Given the description of an element on the screen output the (x, y) to click on. 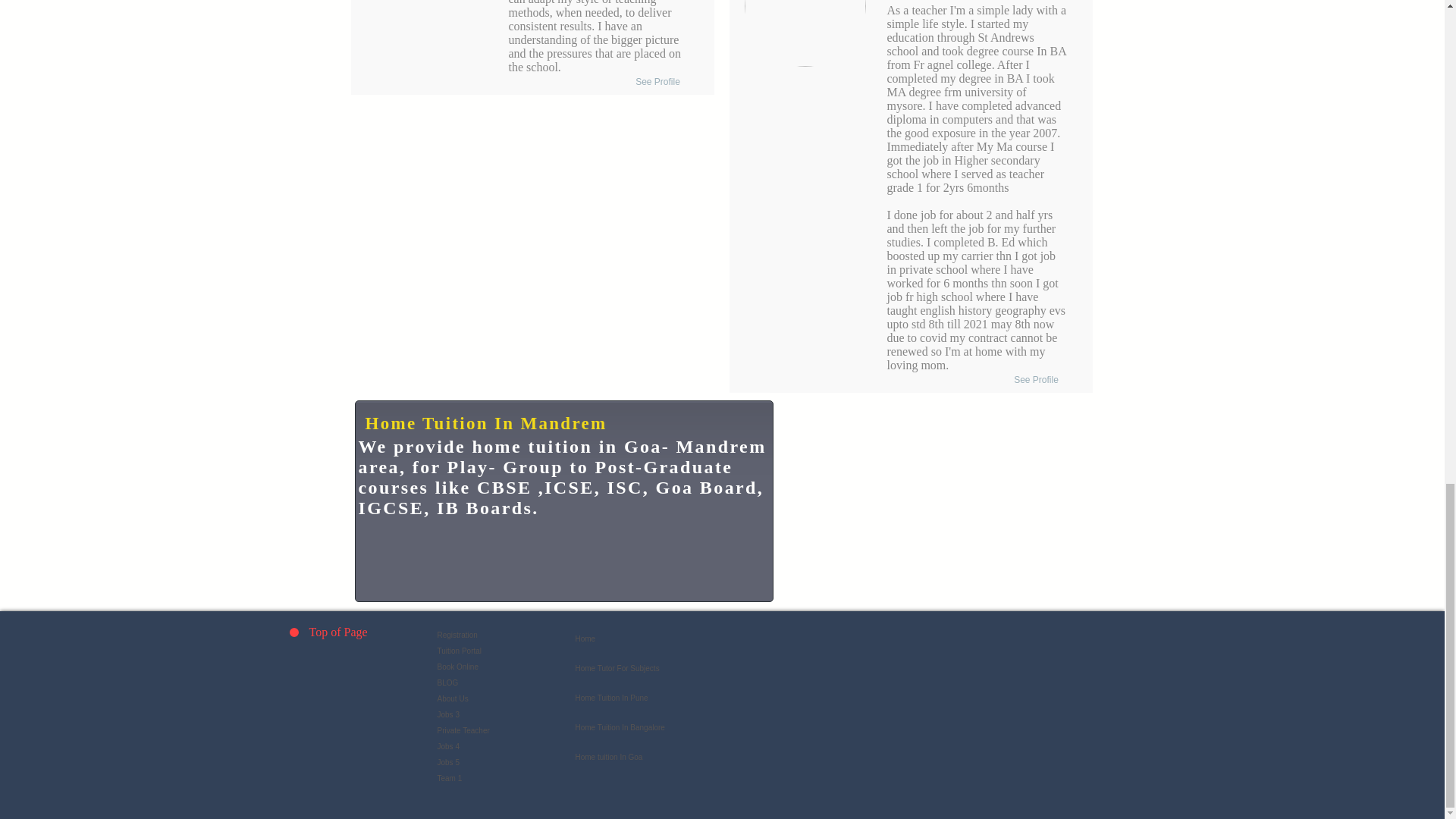
Tuition Portal (504, 650)
Top of Page (375, 632)
Home tuition In Goa (670, 757)
Registration (504, 634)
Book Online (504, 666)
Private Teacher (504, 730)
Jobs 5 (504, 762)
Home Tuition In Pune (670, 697)
Home Tutor For Subjects (670, 668)
Jobs 4 (504, 746)
Home (670, 638)
Home Tuition In Bangalore (670, 727)
Team 1 (504, 778)
About Us (504, 698)
BLOG (504, 682)
